Given the description of an element on the screen output the (x, y) to click on. 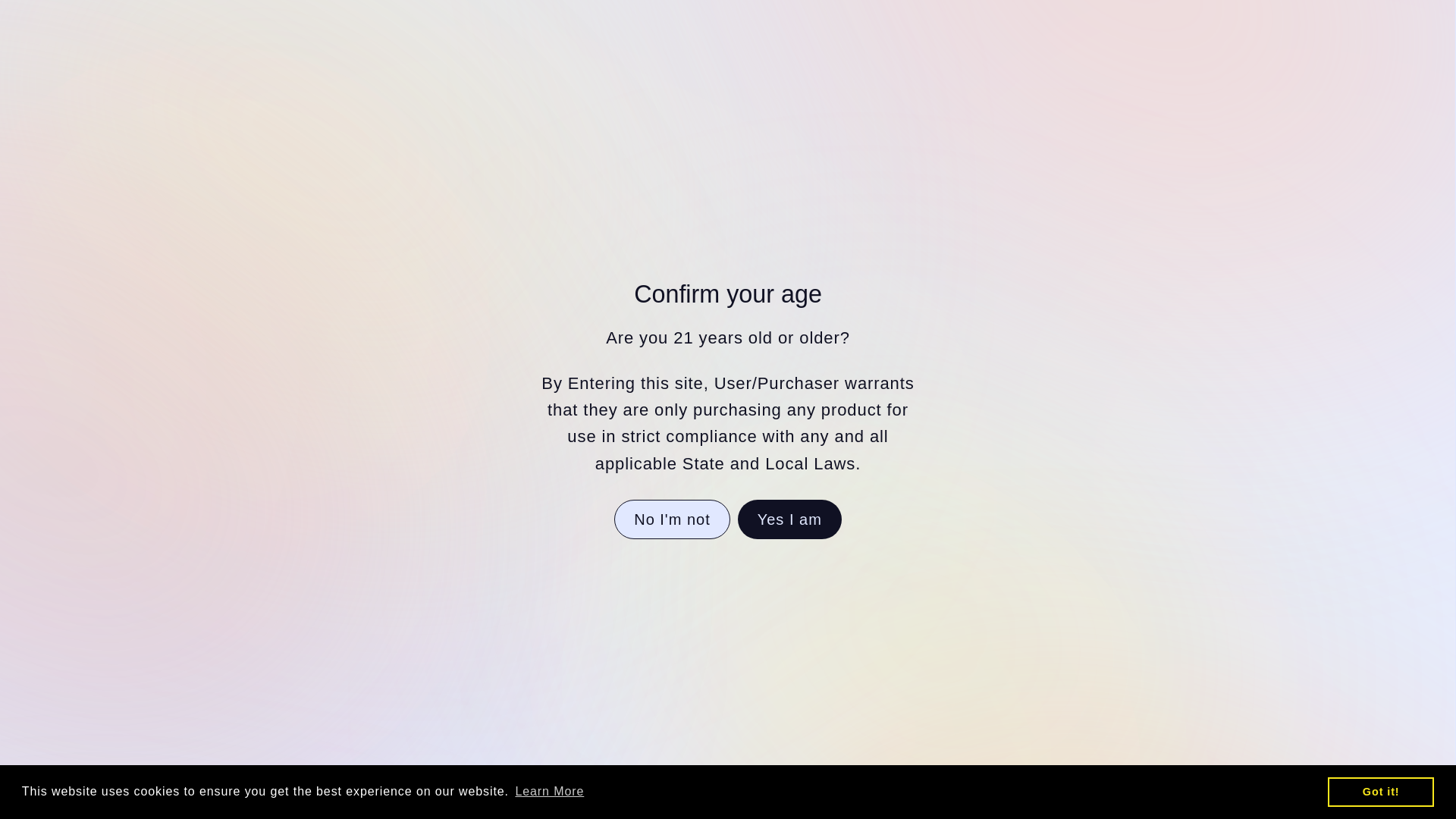
Learn More (549, 199)
Got it! (1380, 199)
Discover (784, 588)
American Express (749, 588)
Mastercard (854, 588)
twitter (623, 664)
instagram (568, 664)
JCB (819, 588)
